Given the description of an element on the screen output the (x, y) to click on. 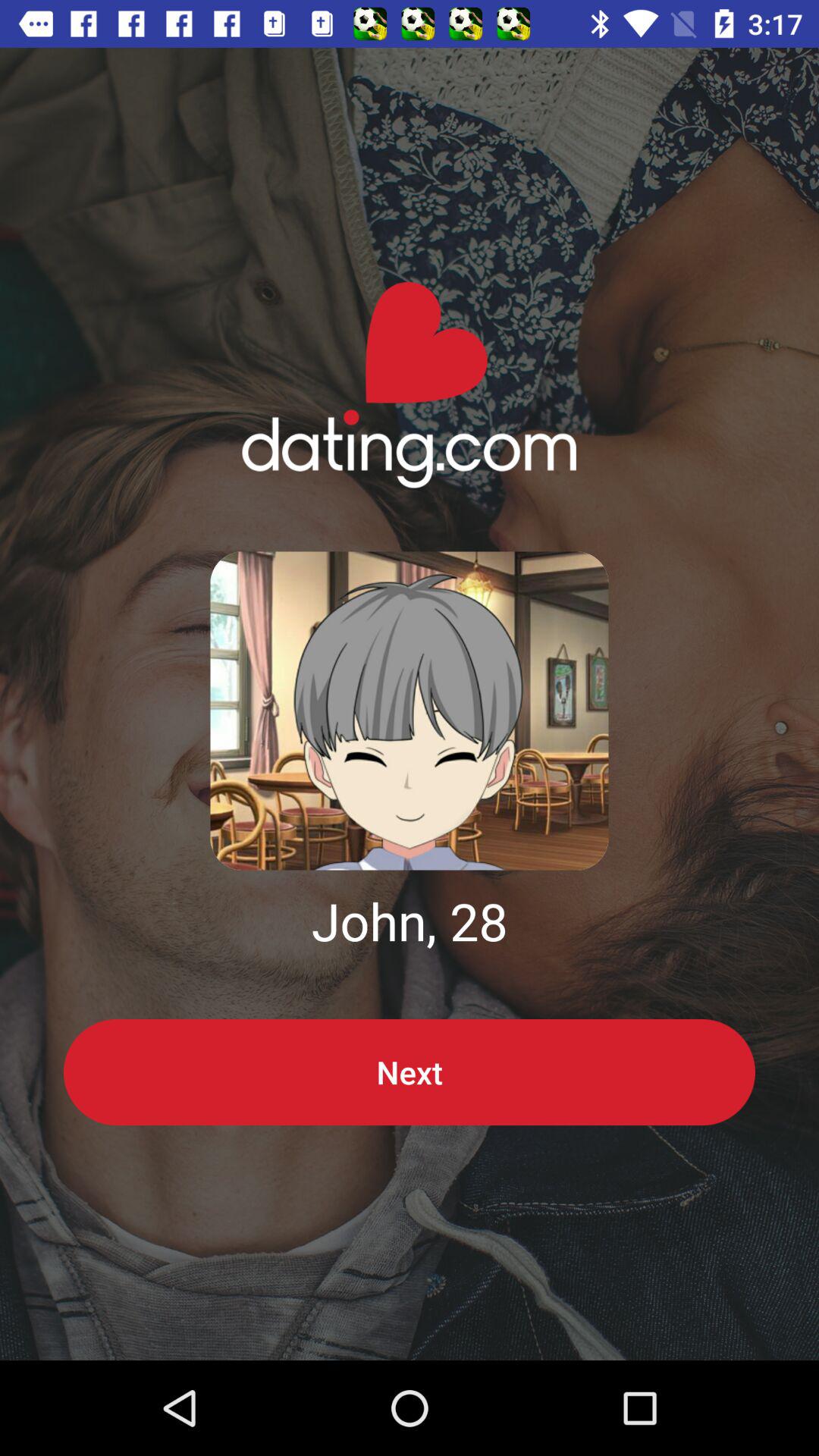
launch item above the john, 28 icon (409, 710)
